Given the description of an element on the screen output the (x, y) to click on. 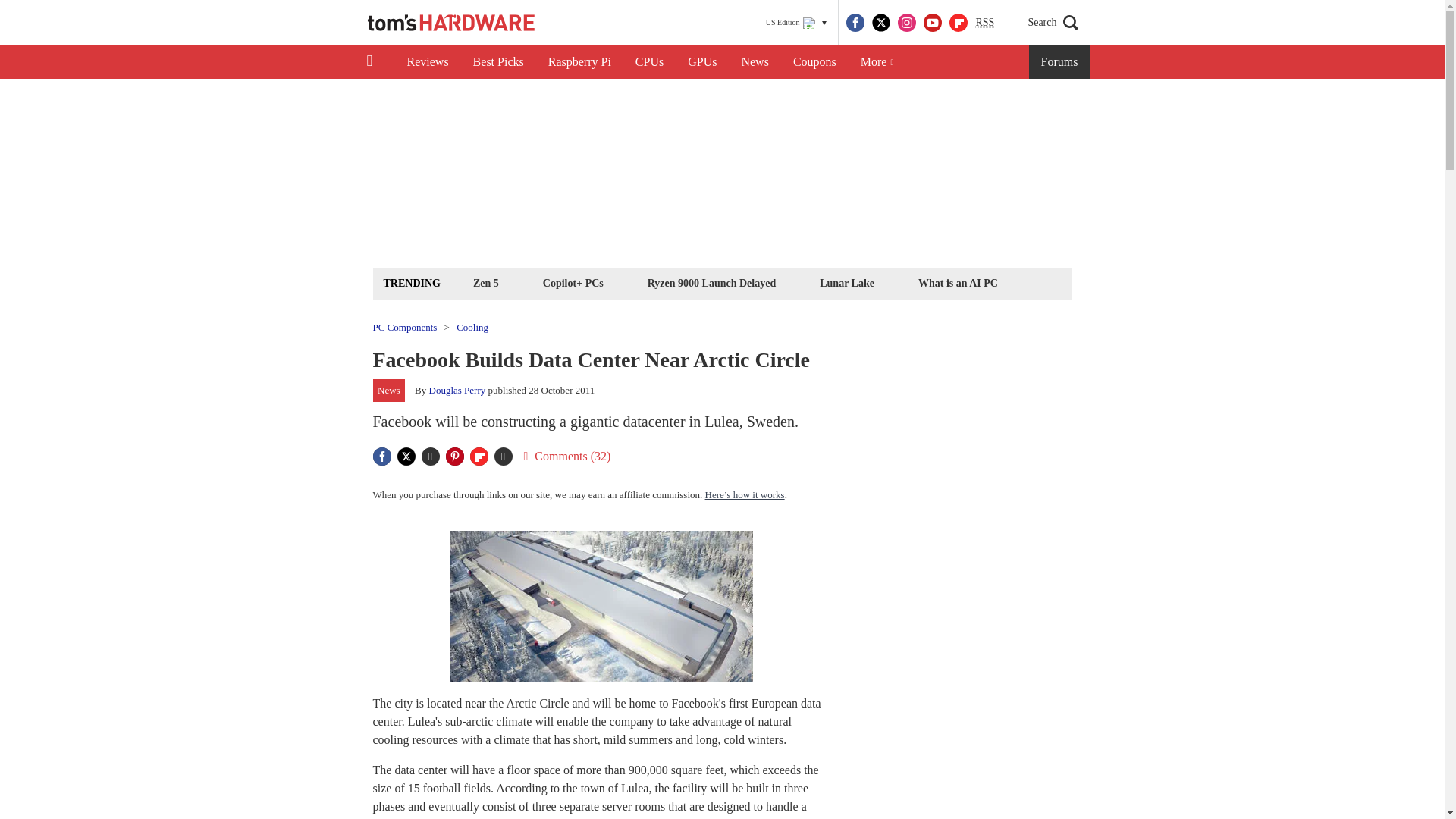
GPUs (702, 61)
RSS (984, 22)
Raspberry Pi (579, 61)
CPUs (649, 61)
Zen 5 (485, 282)
News (754, 61)
US Edition (796, 22)
Really Simple Syndication (984, 21)
Coupons (814, 61)
Forums (1059, 61)
Reviews (427, 61)
Best Picks (498, 61)
